Given the description of an element on the screen output the (x, y) to click on. 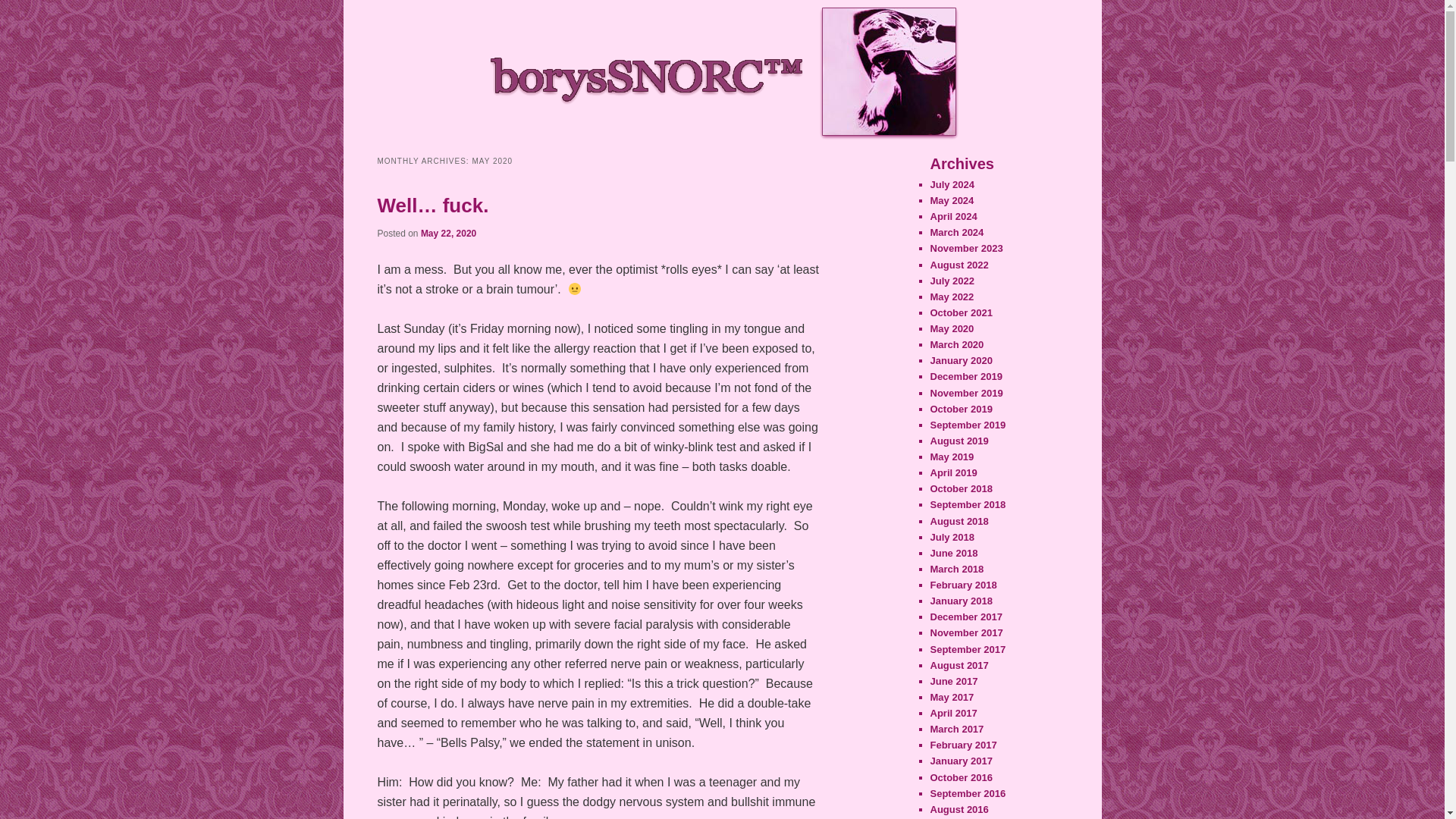
May 22, 2020 (448, 233)
October 2021 (960, 312)
10:34 am (448, 233)
August 2022 (959, 265)
May 2020 (952, 328)
July 2022 (952, 280)
November 2019 (966, 392)
December 2019 (965, 376)
May 2024 (952, 200)
January 2020 (960, 360)
